Given the description of an element on the screen output the (x, y) to click on. 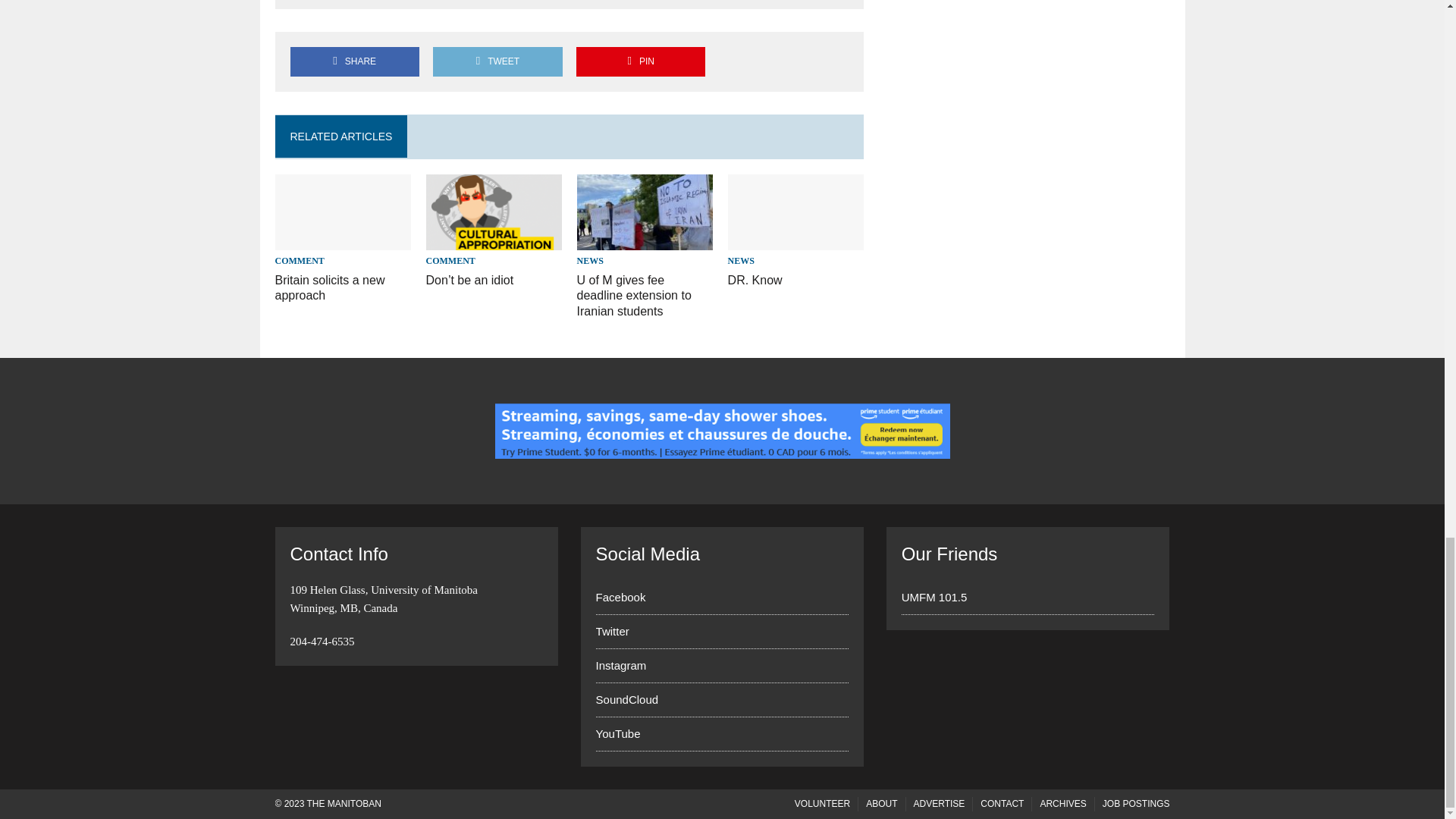
U of M gives fee deadline extension to Iranian students (633, 295)
Britain solicits a new approach (342, 240)
Britain solicits a new approach (329, 287)
DR. Know (796, 240)
U of M gives fee deadline extension to Iranian students (644, 240)
Tweet This Post (497, 61)
DR. Know (755, 279)
Share on Facebook (354, 61)
Pin This Post (640, 61)
